Given the description of an element on the screen output the (x, y) to click on. 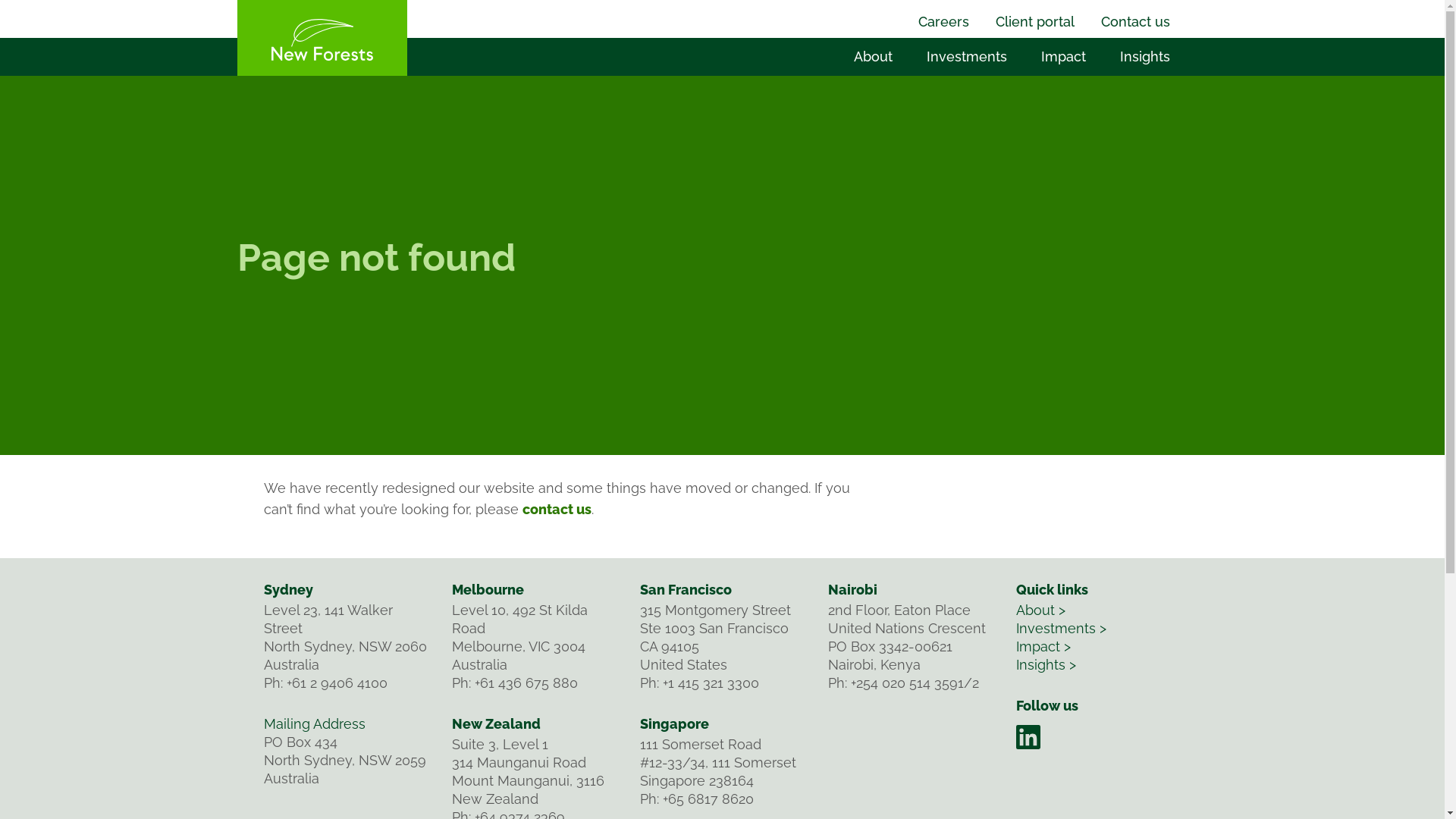
Impact > Element type: text (1043, 646)
Investments > Element type: text (1061, 628)
Impact  Element type: text (1064, 56)
Investments  Element type: text (968, 56)
About > Element type: text (1040, 610)
Contact us  Element type: text (1137, 21)
Client portal  Element type: text (1035, 21)
Insights > Element type: text (1046, 664)
About  Element type: text (874, 56)
contact us Element type: text (555, 509)
Insights  Element type: text (1146, 56)
linkedin Element type: text (1028, 736)
Careers  Element type: text (944, 21)
